Given the description of an element on the screen output the (x, y) to click on. 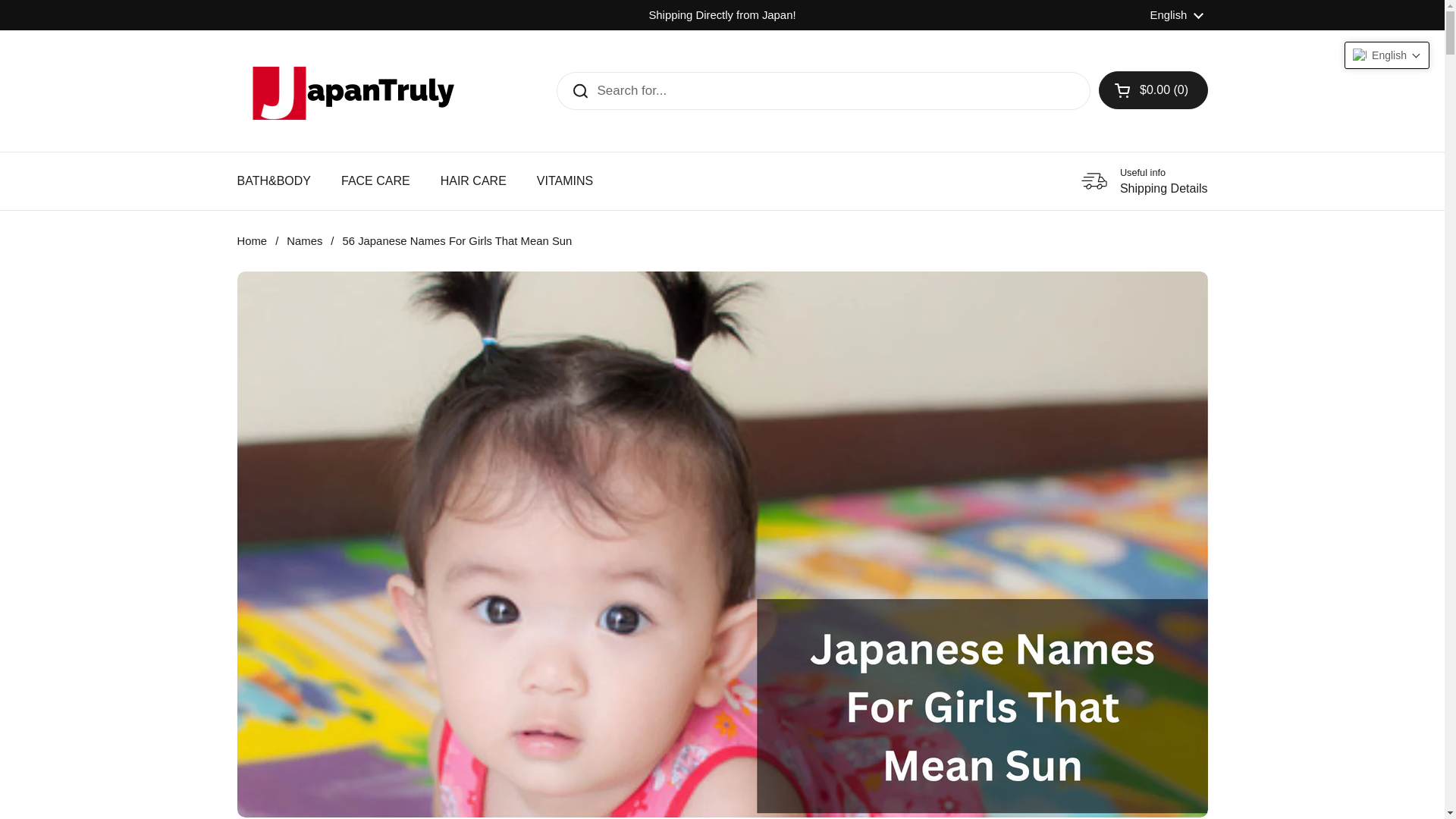
FACE CARE (375, 181)
Open cart (1153, 89)
FACE CARE (375, 181)
Names (1144, 181)
English (303, 241)
Home (1177, 14)
Skip to content (250, 241)
HAIR CARE (473, 181)
Japan Truly (473, 181)
VITAMINS (349, 90)
VITAMINS (564, 181)
